Given the description of an element on the screen output the (x, y) to click on. 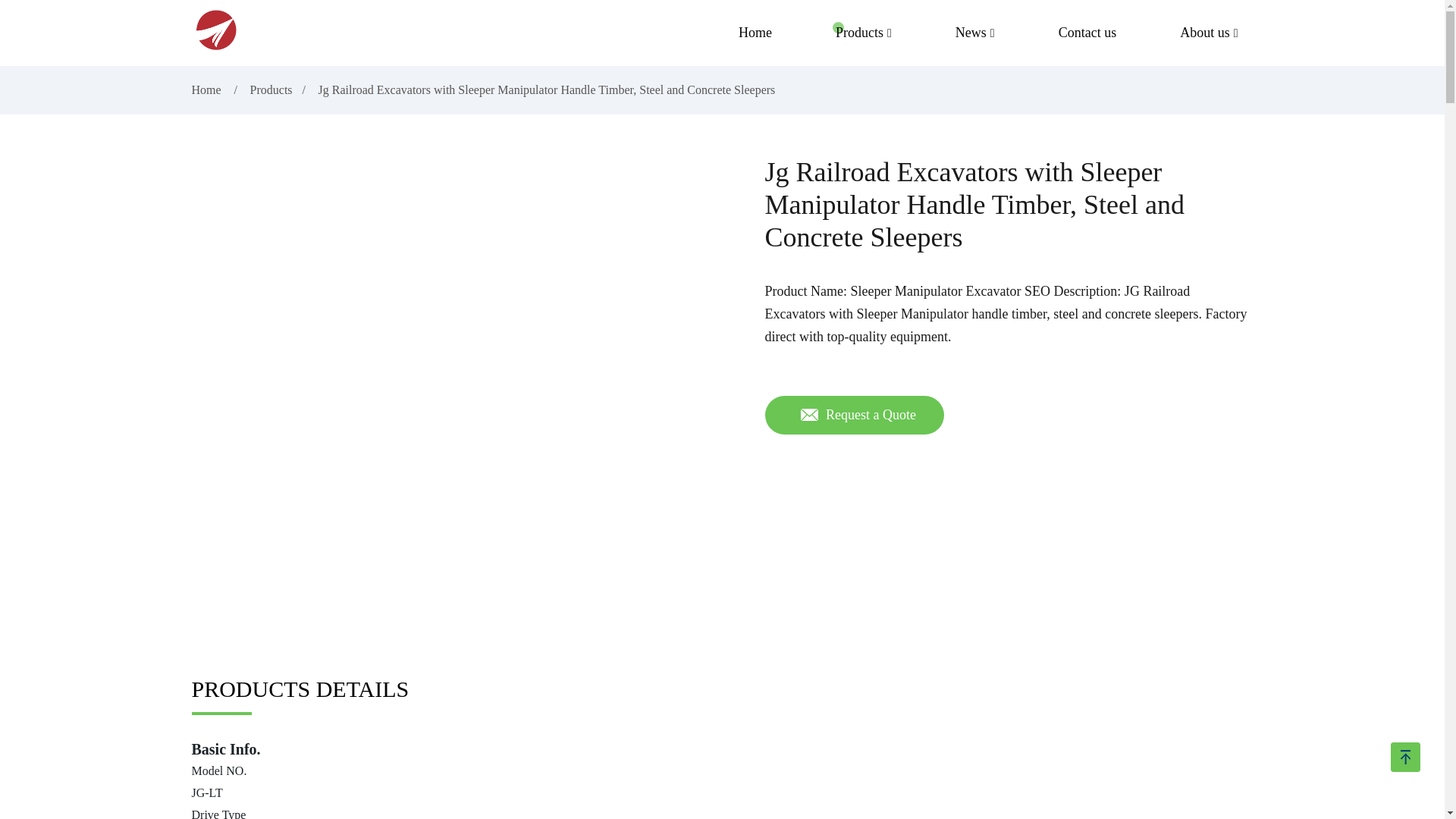
Products (271, 89)
Home (755, 33)
Products (864, 33)
About us (1208, 33)
Contact us (1087, 33)
Home (207, 89)
News (975, 33)
Request a Quote (853, 414)
